Given the description of an element on the screen output the (x, y) to click on. 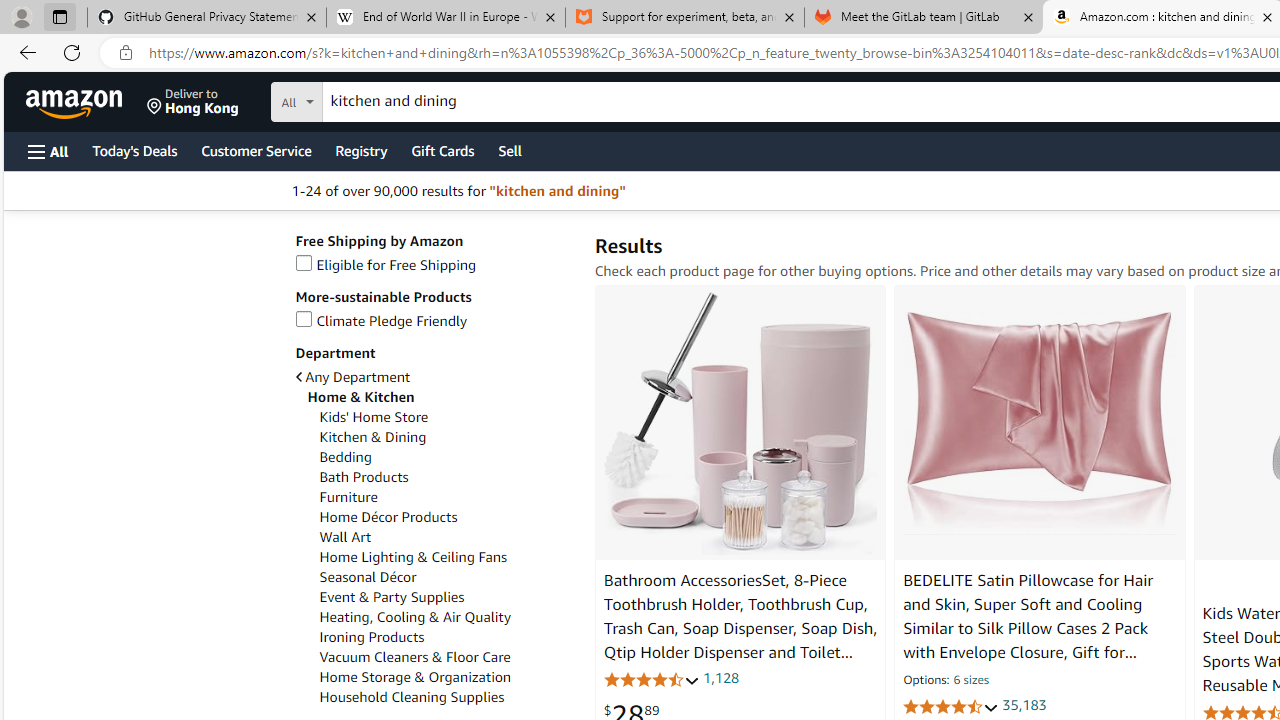
Wall Art (446, 537)
Skip to main content (86, 100)
Household Cleaning Supplies (446, 697)
Eligible for Free Shipping (434, 265)
Heating, Cooling & Air Quality (446, 617)
Climate Pledge Friendly (381, 321)
4.5 out of 5 stars (950, 706)
Customer Service (256, 150)
Any Department (352, 377)
Sell (509, 150)
1,128 (720, 678)
